Given the description of an element on the screen output the (x, y) to click on. 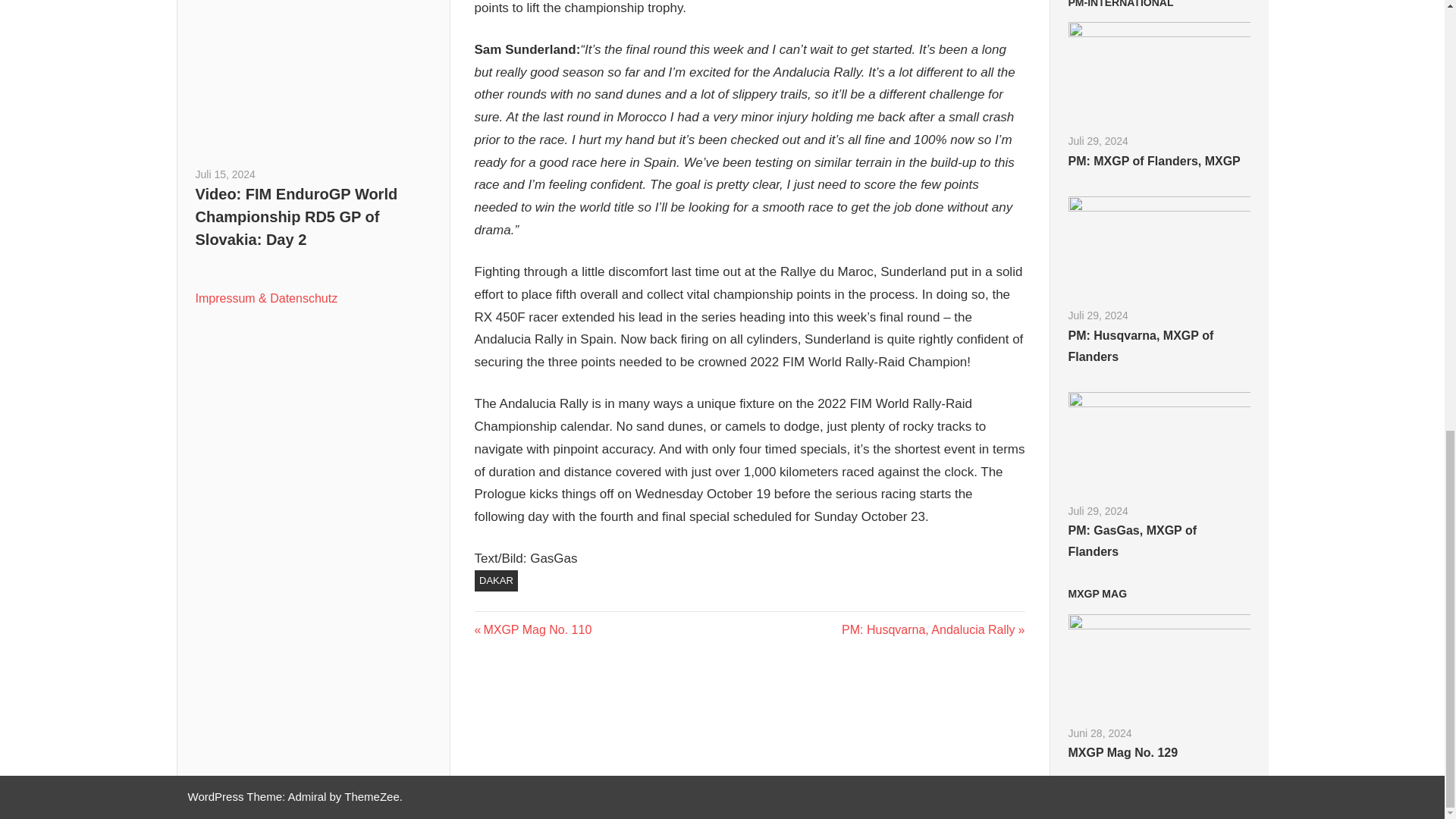
Juli 29, 2024 (1096, 141)
PM-INTERNATIONAL (533, 629)
PM: MXGP of Flanders, MXGP (1120, 4)
7:46 am (1153, 160)
5:35 pm (225, 174)
DAKAR (1096, 141)
Juli 15, 2024 (496, 580)
5:31 pm (225, 174)
